Given the description of an element on the screen output the (x, y) to click on. 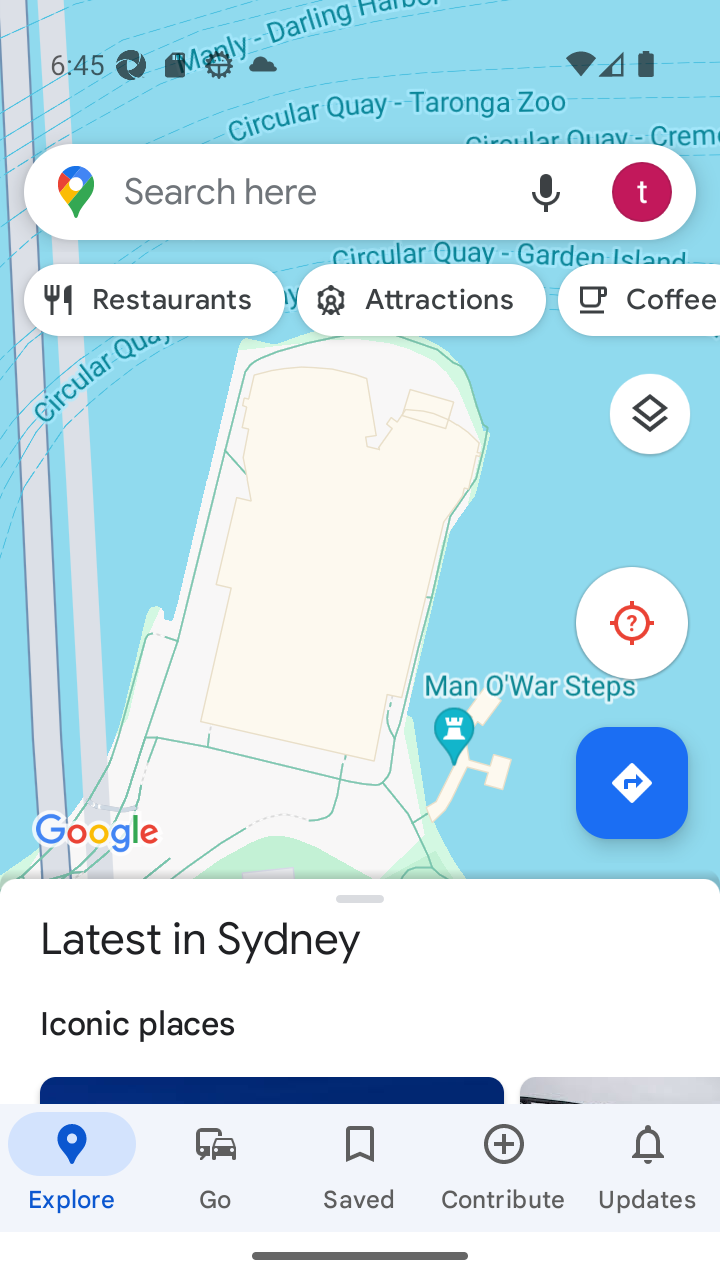
Search here (260, 191)
Voice search (546, 191)
Account and settings. (645, 191)
Restaurants Search for Restaurants (154, 300)
Attractions Search for Attractions (420, 300)
Coffee Search for Coffee (639, 300)
Layers (662, 422)
Directions (632, 782)
Iconic places (360, 1021)
Go (216, 1167)
Saved (360, 1167)
Contribute (504, 1167)
Updates (648, 1167)
